Given the description of an element on the screen output the (x, y) to click on. 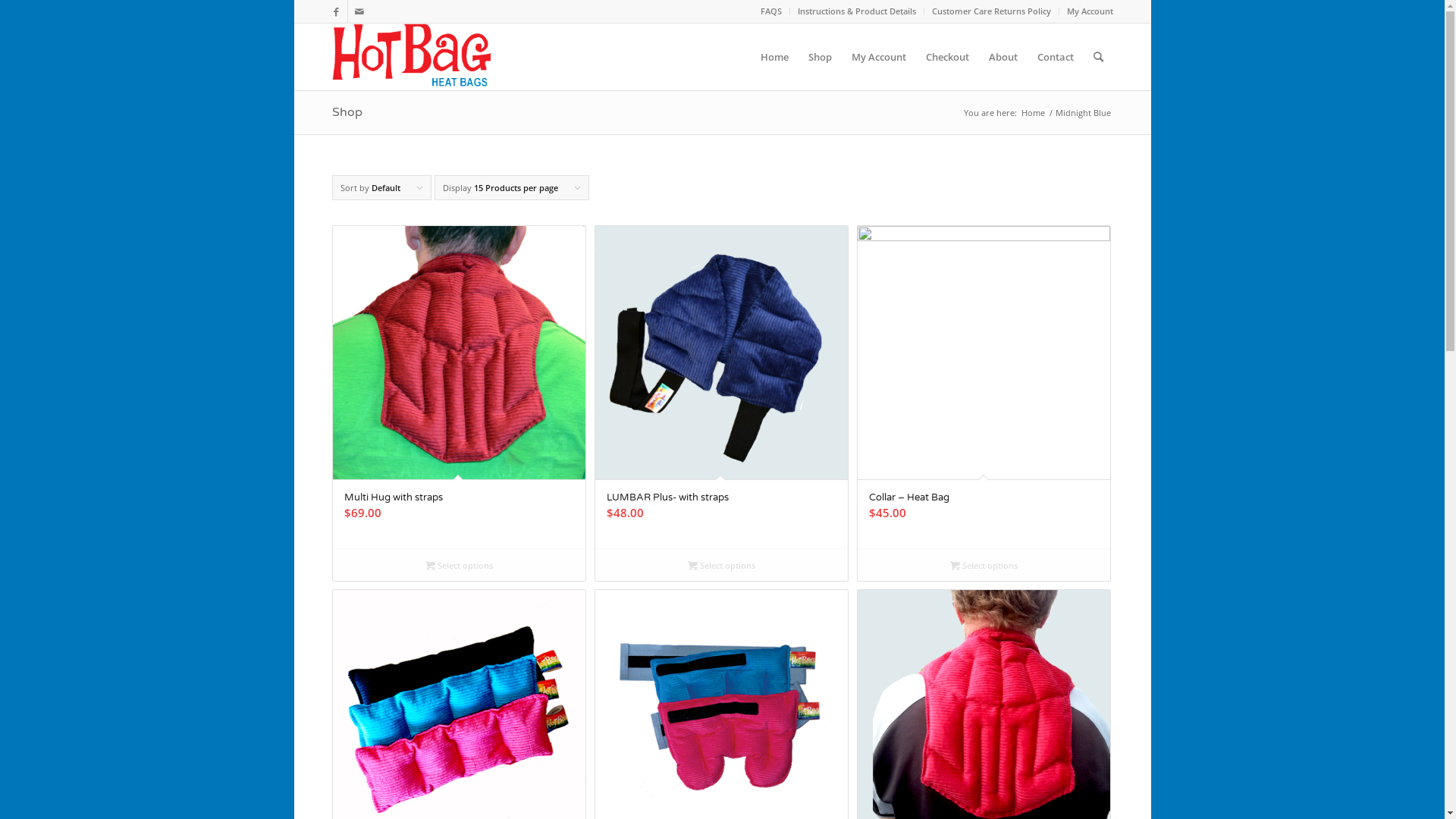
Customer Care Returns Policy Element type: text (990, 10)
LUMBAR Plus- with straps
$48.00 Element type: text (721, 386)
My Account Element type: text (1089, 10)
My Account Element type: text (878, 56)
Shop Element type: text (347, 111)
Facebook Element type: hover (335, 11)
Home Element type: text (1033, 112)
Shop Element type: text (818, 56)
Checkout Element type: text (947, 56)
Contact Element type: text (1054, 56)
Select options Element type: text (721, 564)
Select options Element type: text (984, 564)
Select options Element type: text (458, 564)
Instructions & Product Details Element type: text (856, 10)
Multi Hug with straps
$69.00 Element type: text (458, 386)
About Element type: text (1002, 56)
Mail Element type: hover (358, 11)
FAQS Element type: text (770, 10)
Home Element type: text (774, 56)
